Given the description of an element on the screen output the (x, y) to click on. 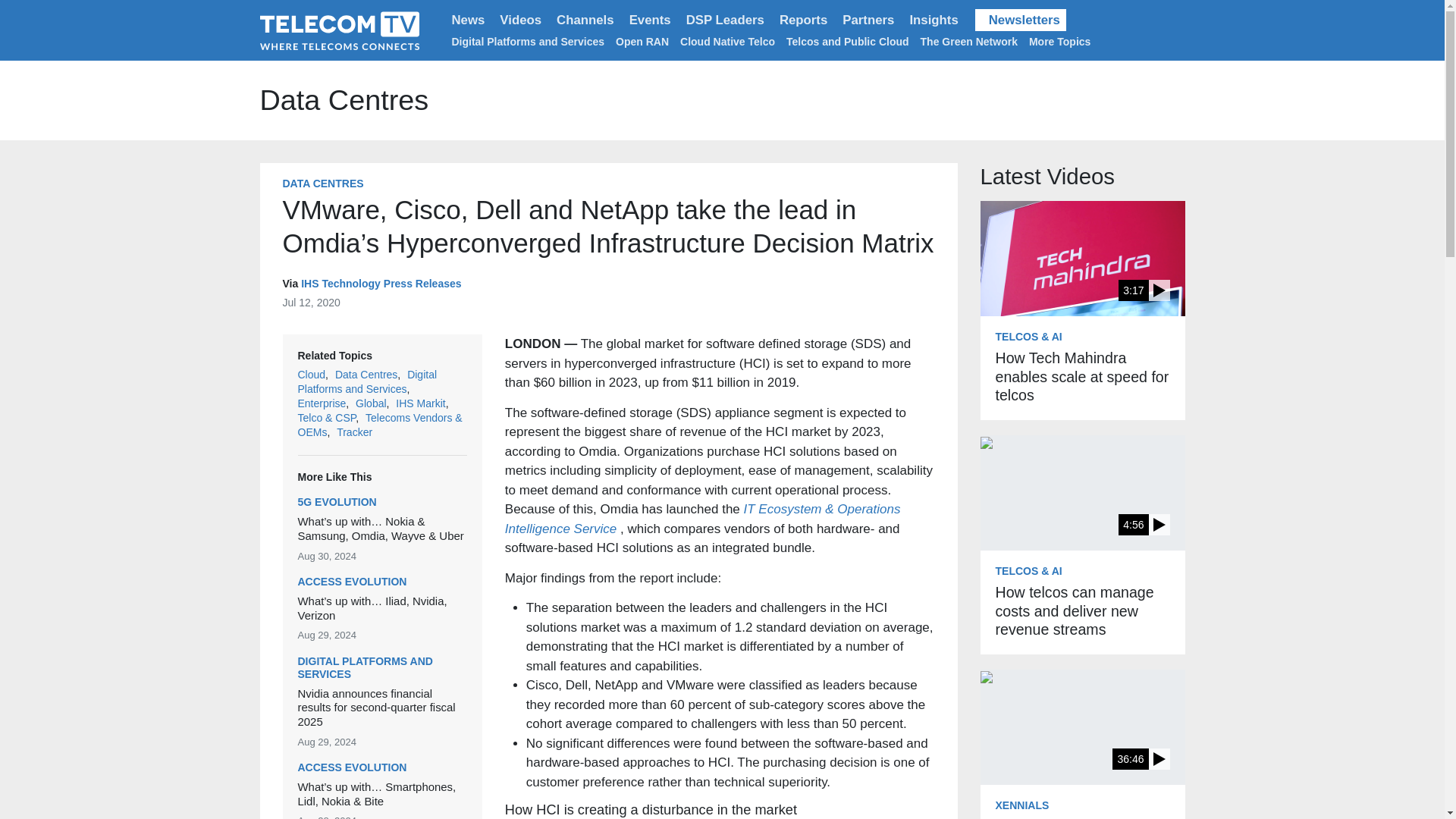
DSP Leaders (724, 20)
Reports (802, 20)
Newsletters (1020, 20)
Events (650, 20)
More Topics (1062, 41)
Telcos and Public Cloud (847, 41)
Videos (520, 20)
News (468, 20)
Open RAN (641, 41)
Insights (932, 20)
